Given the description of an element on the screen output the (x, y) to click on. 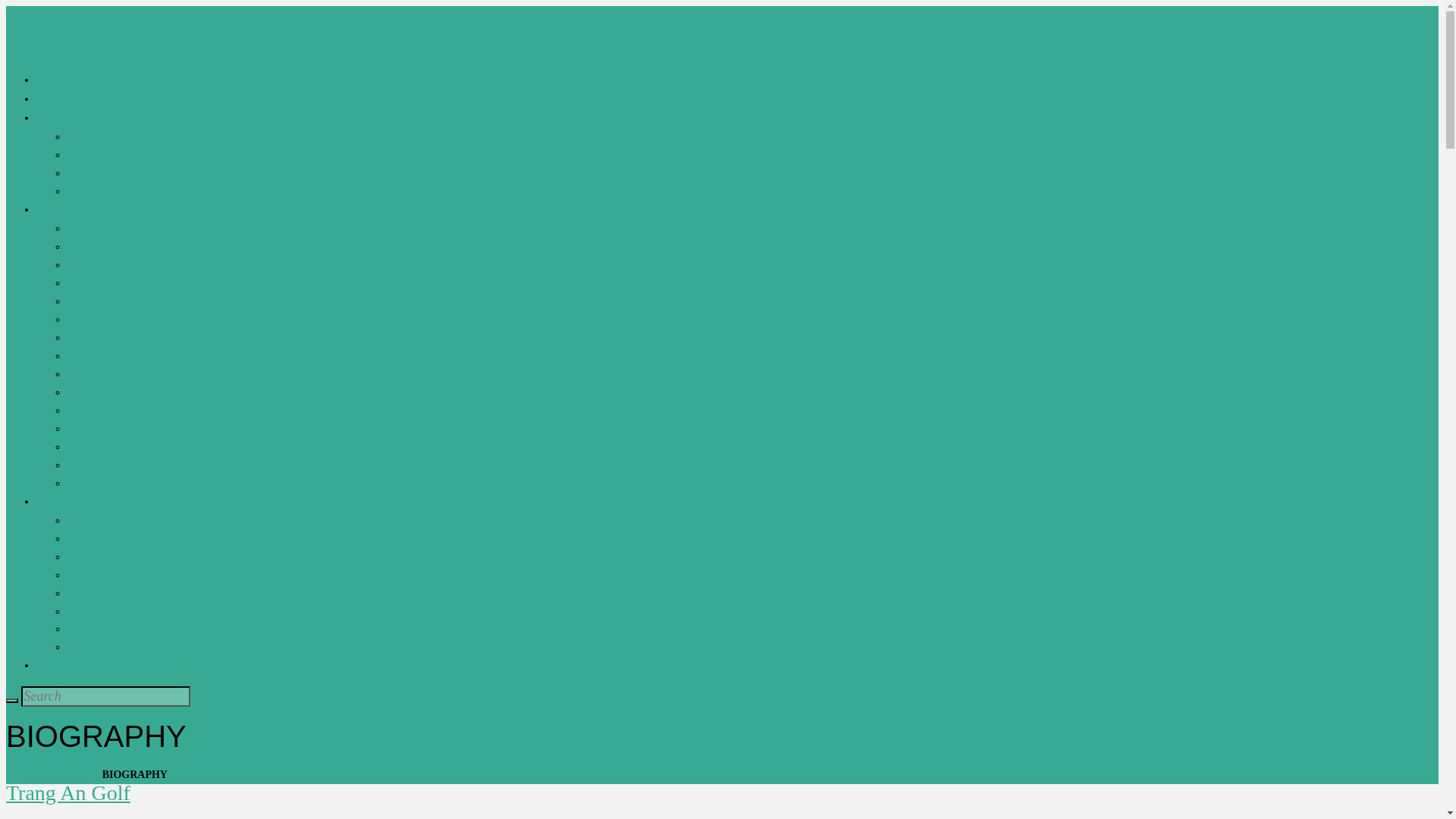
Golf Course (59, 99)
TV (42, 501)
Mariah Carey (94, 409)
La La Anthony (95, 593)
Harry Styles (91, 337)
Lady Gaga (88, 391)
Dolly Parton (91, 556)
Home (19, 774)
Brittany Mahomes (102, 520)
Miley Cyrus (90, 446)
